Given the description of an element on the screen output the (x, y) to click on. 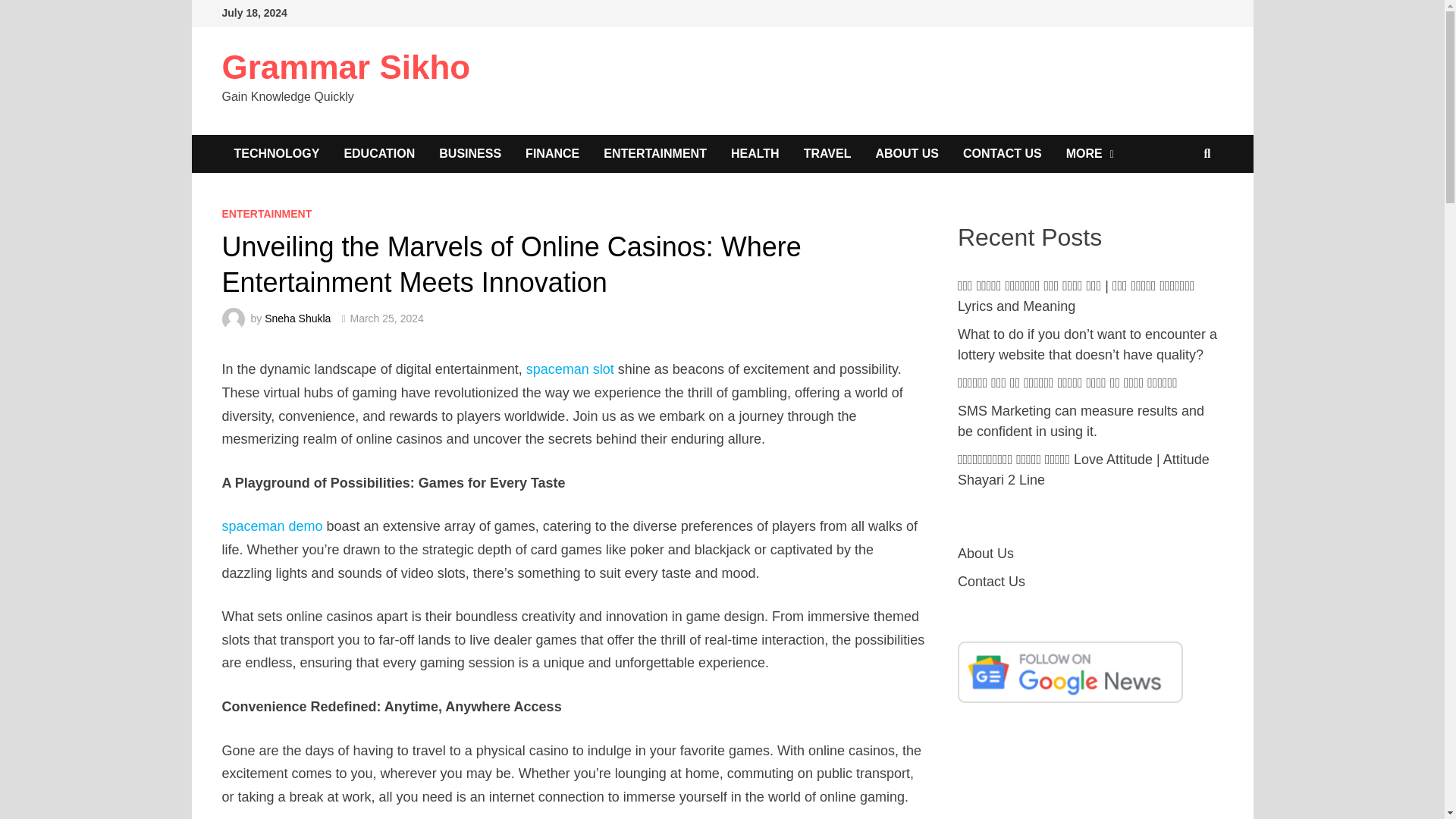
spaceman demo (271, 525)
Sneha Shukla (297, 318)
CONTACT US (1002, 153)
MORE (1089, 153)
March 25, 2024 (386, 318)
BUSINESS (469, 153)
EDUCATION (378, 153)
HEALTH (755, 153)
FINANCE (552, 153)
TRAVEL (827, 153)
spaceman slot (569, 368)
Grammar Sikho (345, 66)
ENTERTAINMENT (266, 214)
TECHNOLOGY (276, 153)
ENTERTAINMENT (655, 153)
